Given the description of an element on the screen output the (x, y) to click on. 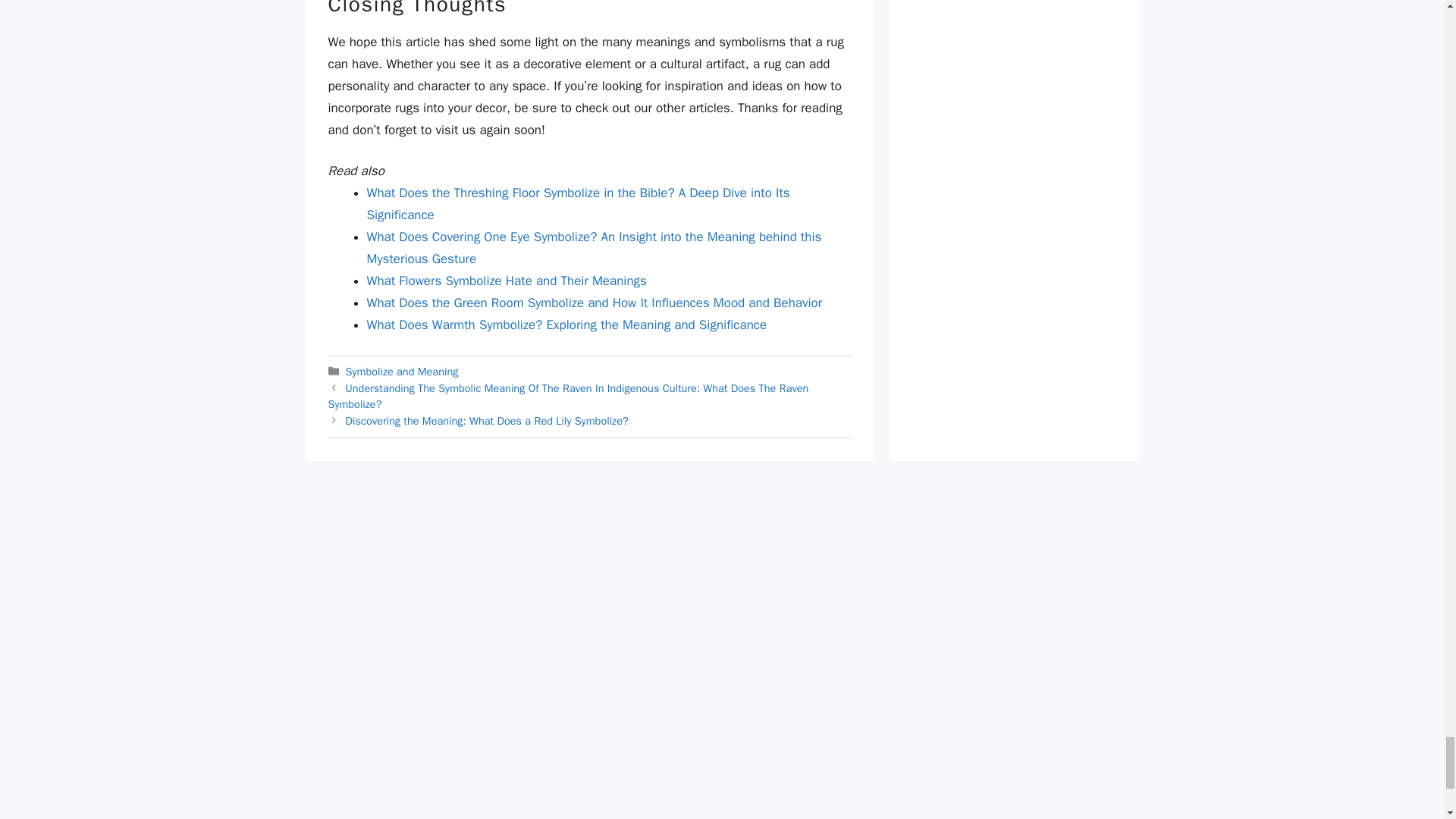
Symbolize and Meaning (402, 371)
Discovering the Meaning: What Does a Red Lily Symbolize? (487, 420)
What Flowers Symbolize Hate and Their Meanings (506, 280)
